Given the description of an element on the screen output the (x, y) to click on. 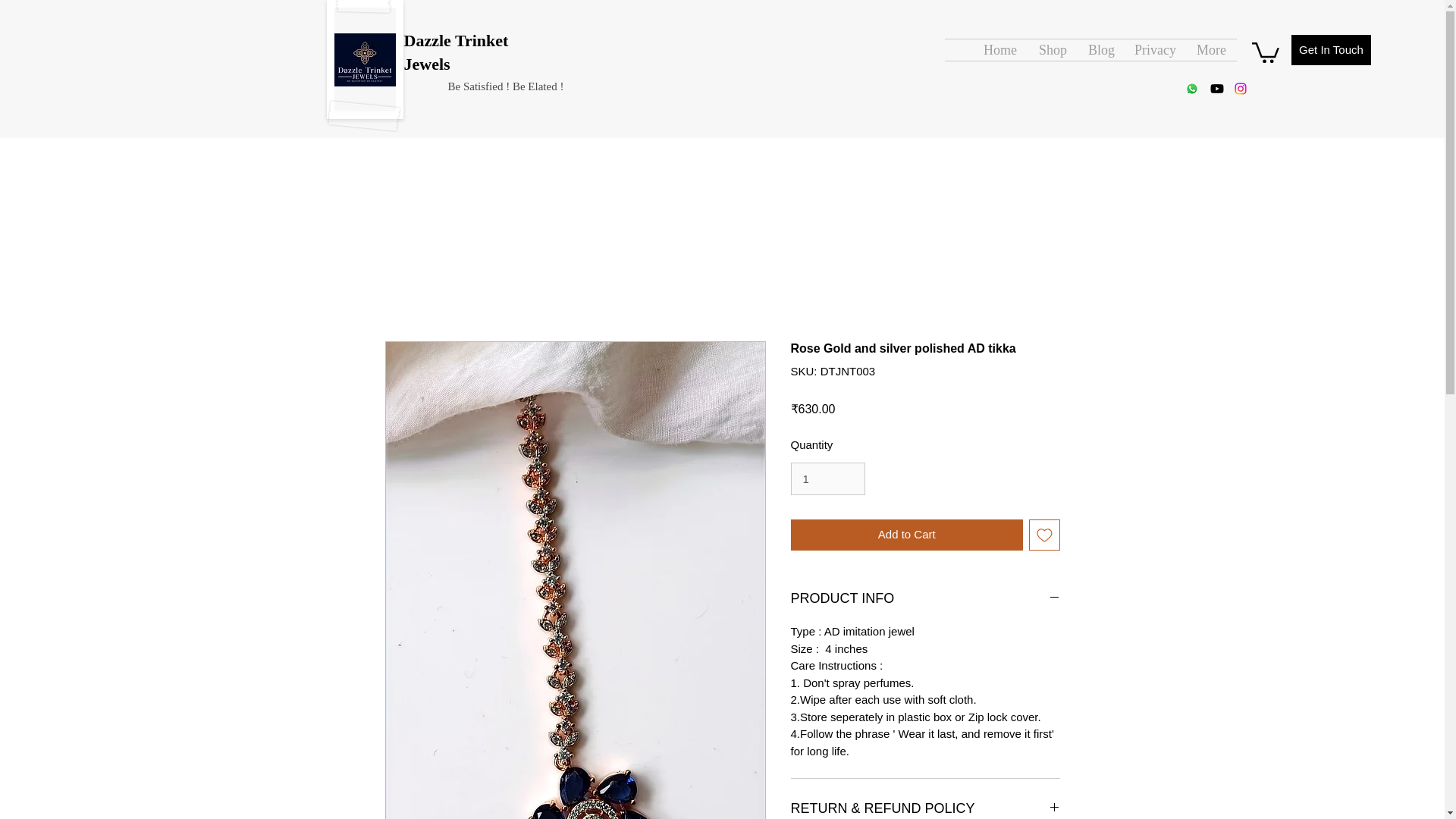
Add to Cart (906, 534)
1 (827, 479)
Shop (1052, 49)
Dazzle Trinket Jewels (455, 52)
Privacy (1153, 49)
PRODUCT INFO (924, 598)
Blog (1099, 49)
Get In Touch (1331, 50)
Home (999, 49)
